Given the description of an element on the screen output the (x, y) to click on. 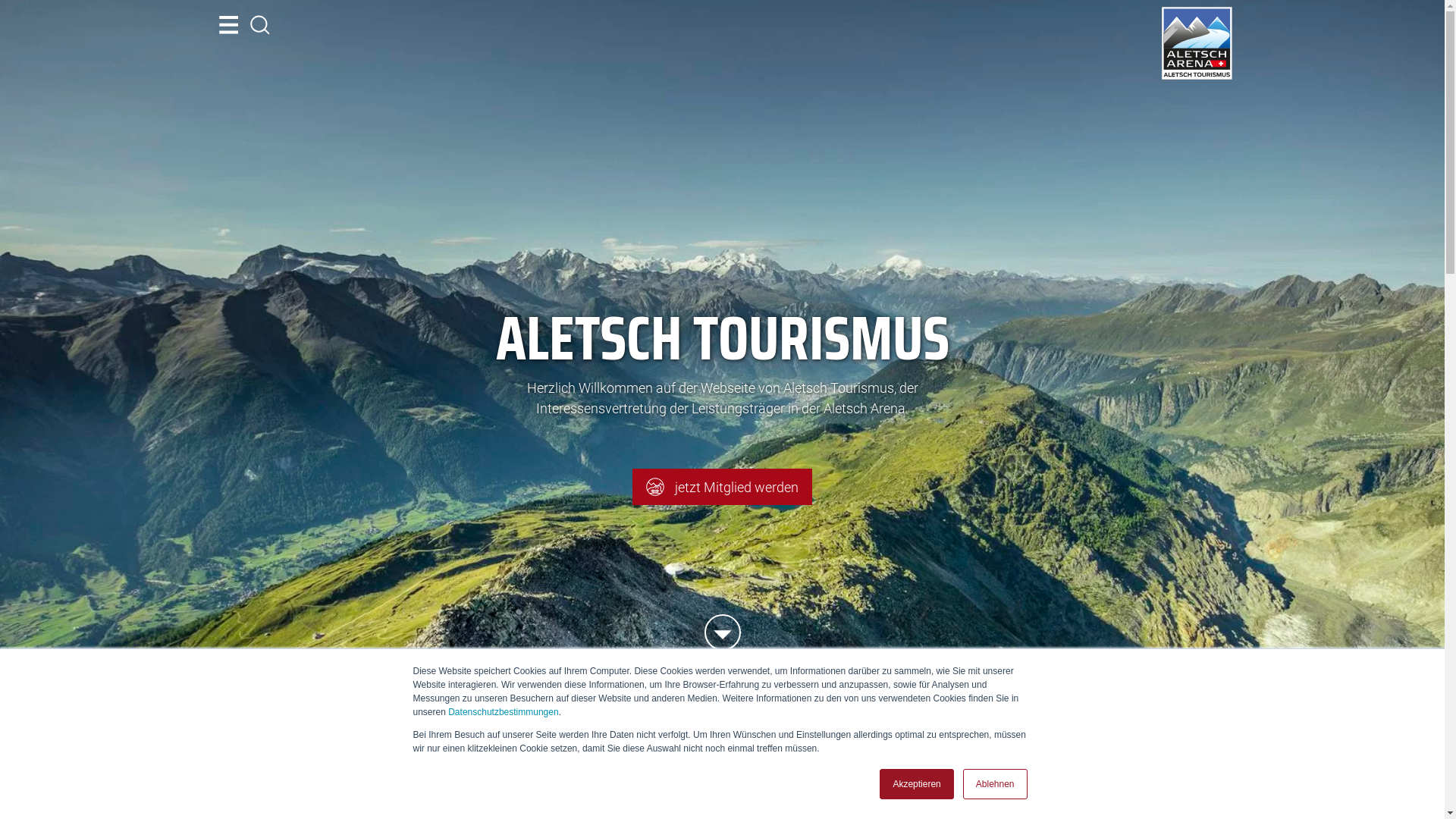
jetzt Mitglied werden Element type: text (722, 486)
Ablehnen Element type: text (995, 783)
Suche Element type: hover (260, 24)
Datenschutzbestimmungen Element type: text (503, 711)
Akzeptieren Element type: text (916, 783)
